Given the description of an element on the screen output the (x, y) to click on. 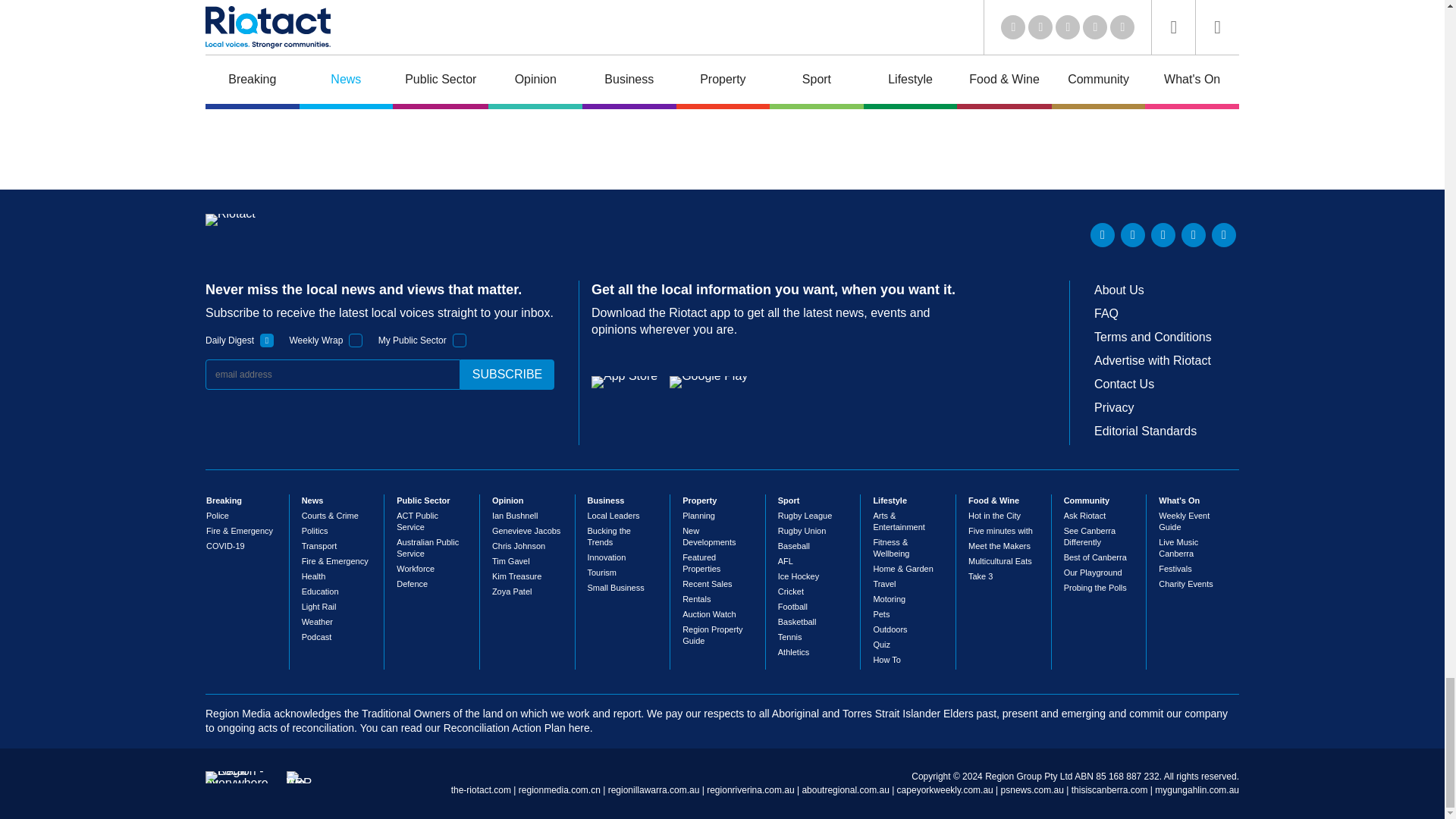
subscribe (507, 374)
1 (458, 340)
1 (266, 340)
1 (355, 340)
